Given the description of an element on the screen output the (x, y) to click on. 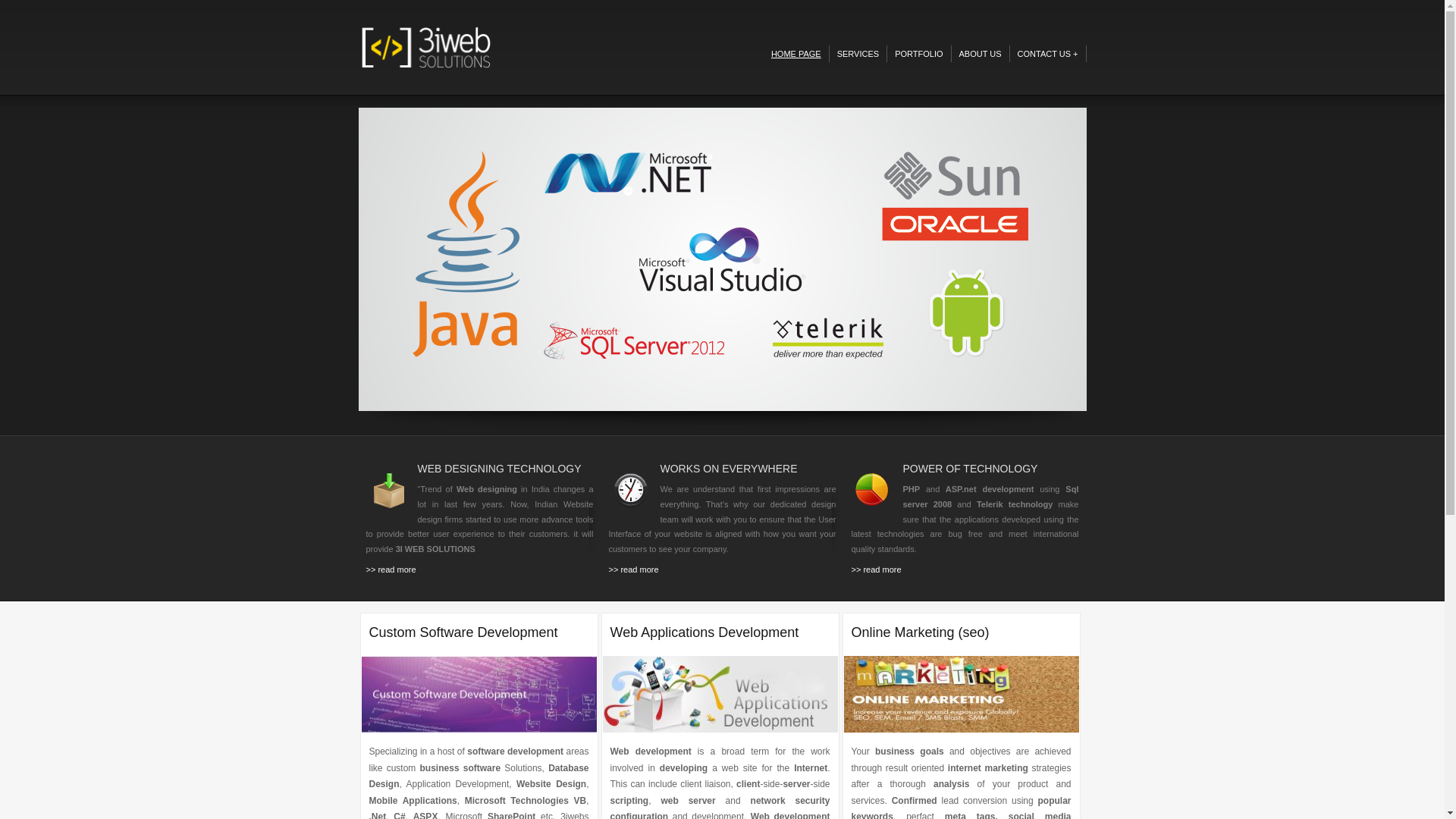
telerik development Element type: hover (874, 490)
PORTFOLIO Element type: text (918, 53)
SERVICES Element type: text (858, 53)
>> read more Element type: text (633, 569)
seo services provider Element type: hover (960, 693)
ABOUT US Element type: text (979, 53)
HOME PAGE Element type: text (796, 53)
joomla website development company Element type: hover (631, 490)
wordpress website designing company Element type: hover (389, 490)
>> read more Element type: text (390, 569)
3i web solutions logo Element type: hover (425, 47)
Software development company in vadodara Element type: hover (478, 693)
>> read more Element type: text (875, 569)
CONTACT US + Element type: text (1048, 53)
web development company Element type: hover (719, 693)
